Given the description of an element on the screen output the (x, y) to click on. 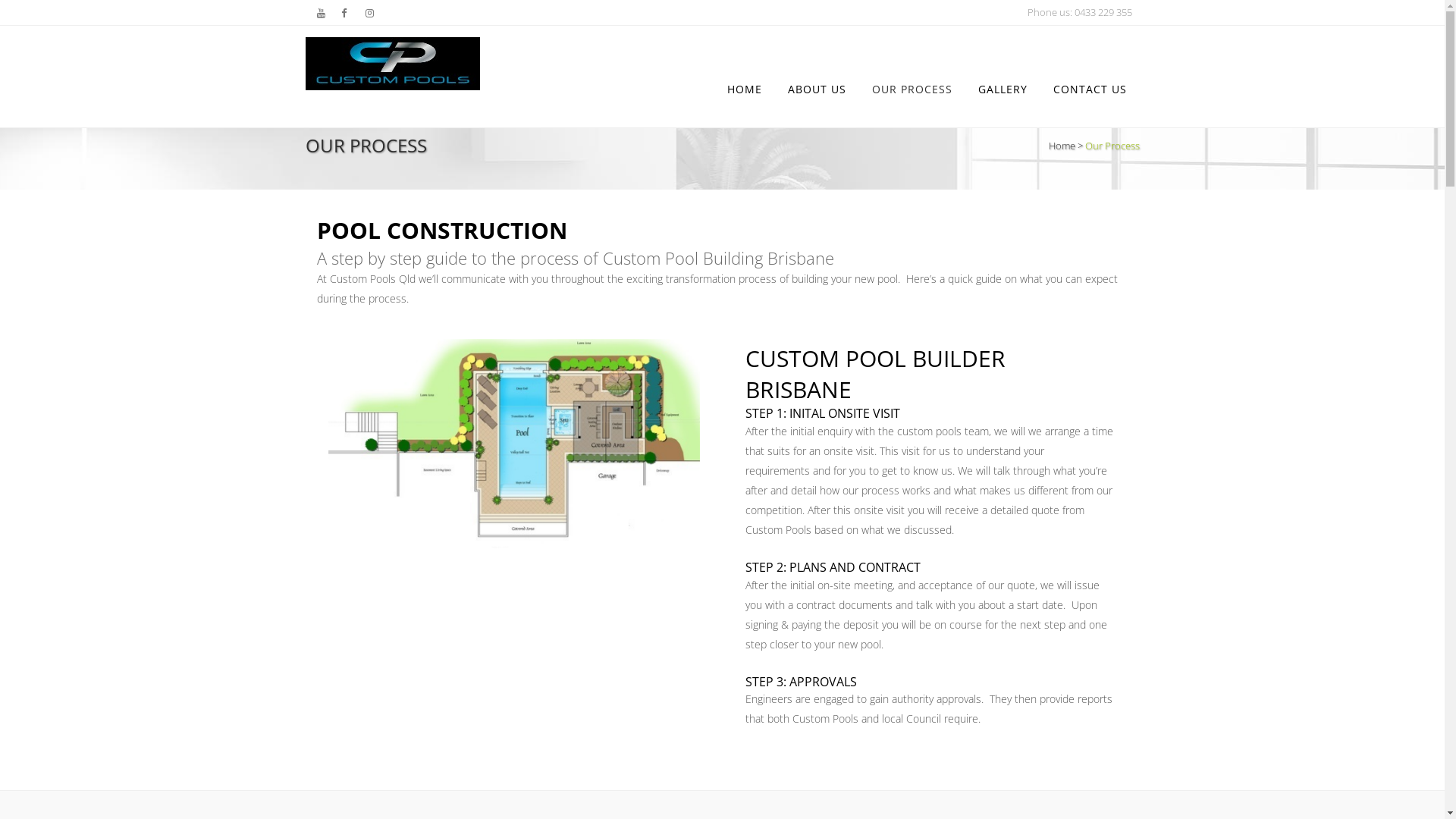
GALLERY Element type: text (1001, 89)
pool builder redlands, pool builder cleveland Element type: hover (513, 443)
CONTACT US Element type: text (1089, 89)
HOME Element type: text (744, 89)
OUR PROCESS Element type: text (911, 89)
ABOUT US Element type: text (817, 89)
Home Element type: text (1061, 144)
